Given the description of an element on the screen output the (x, y) to click on. 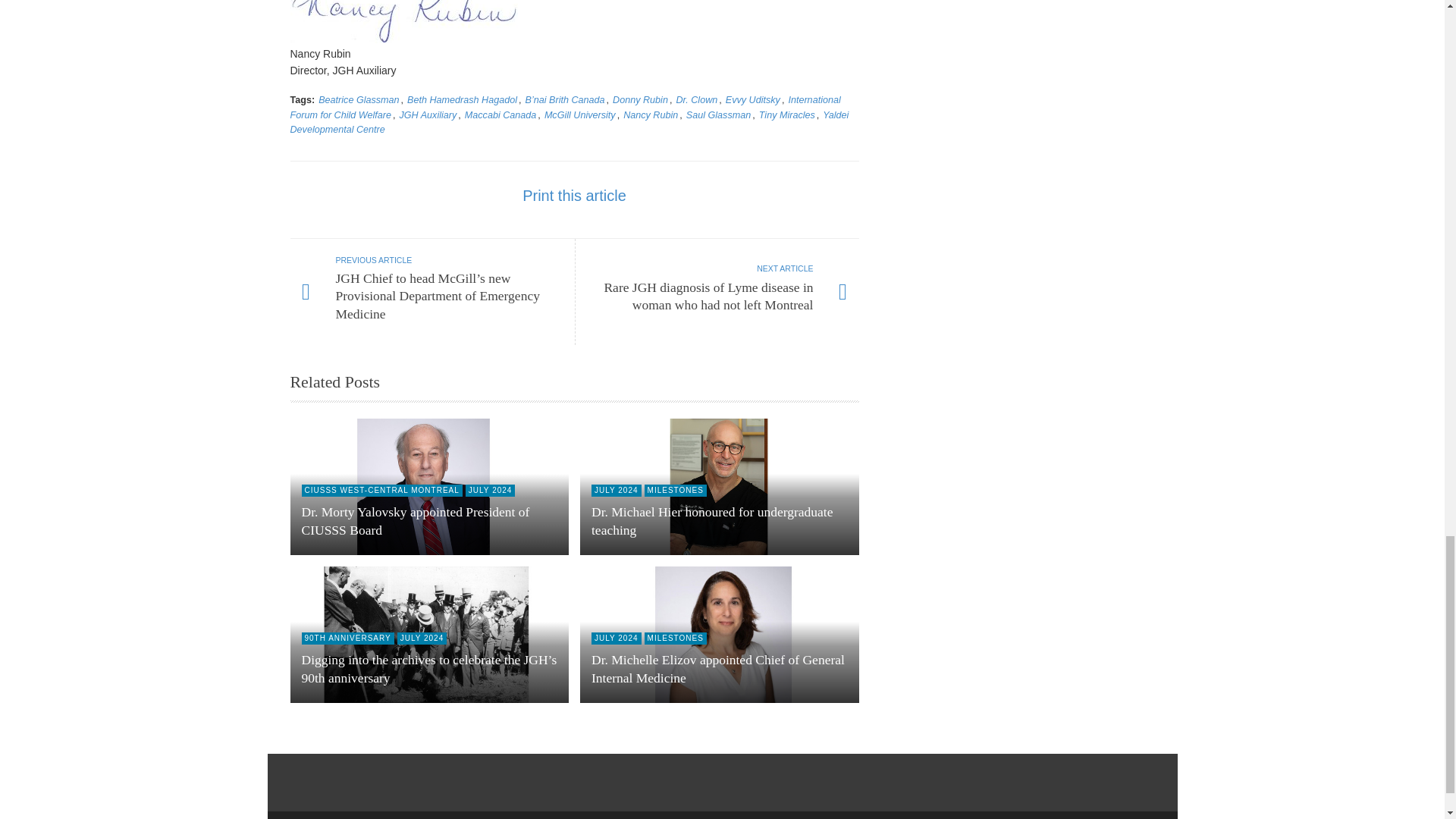
Donny Rubin (640, 100)
Print this article (574, 195)
View all posts in July 2024 (616, 490)
Beth Hamedrash Hagadol (461, 100)
Dr. Clown (696, 100)
View all posts in July 2024 (490, 490)
Beatrice Glassman (358, 100)
View all posts in CIUSSS West-Central Montreal (382, 490)
